Given the description of an element on the screen output the (x, y) to click on. 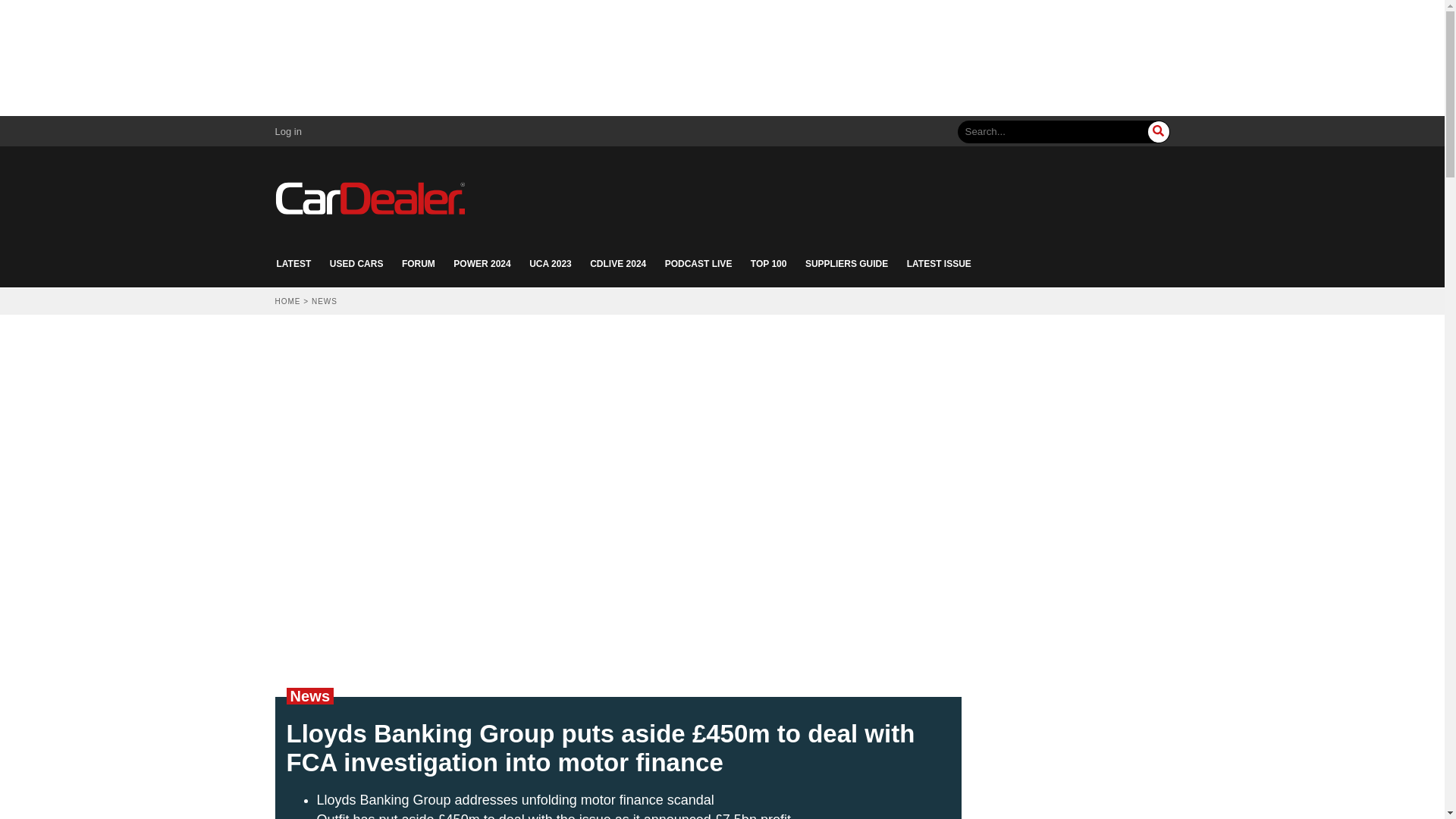
PODCAST LIVE (698, 263)
LATEST ISSUE (939, 263)
HOME (287, 301)
USED CARS (357, 263)
SUPPLIERS GUIDE (846, 263)
LATEST (293, 263)
News (309, 695)
TOP 100 (769, 263)
NEWS (324, 301)
Log in (288, 131)
FORUM (418, 263)
CDLIVE 2024 (617, 263)
POWER 2024 (481, 263)
UCA 2023 (550, 263)
